Given the description of an element on the screen output the (x, y) to click on. 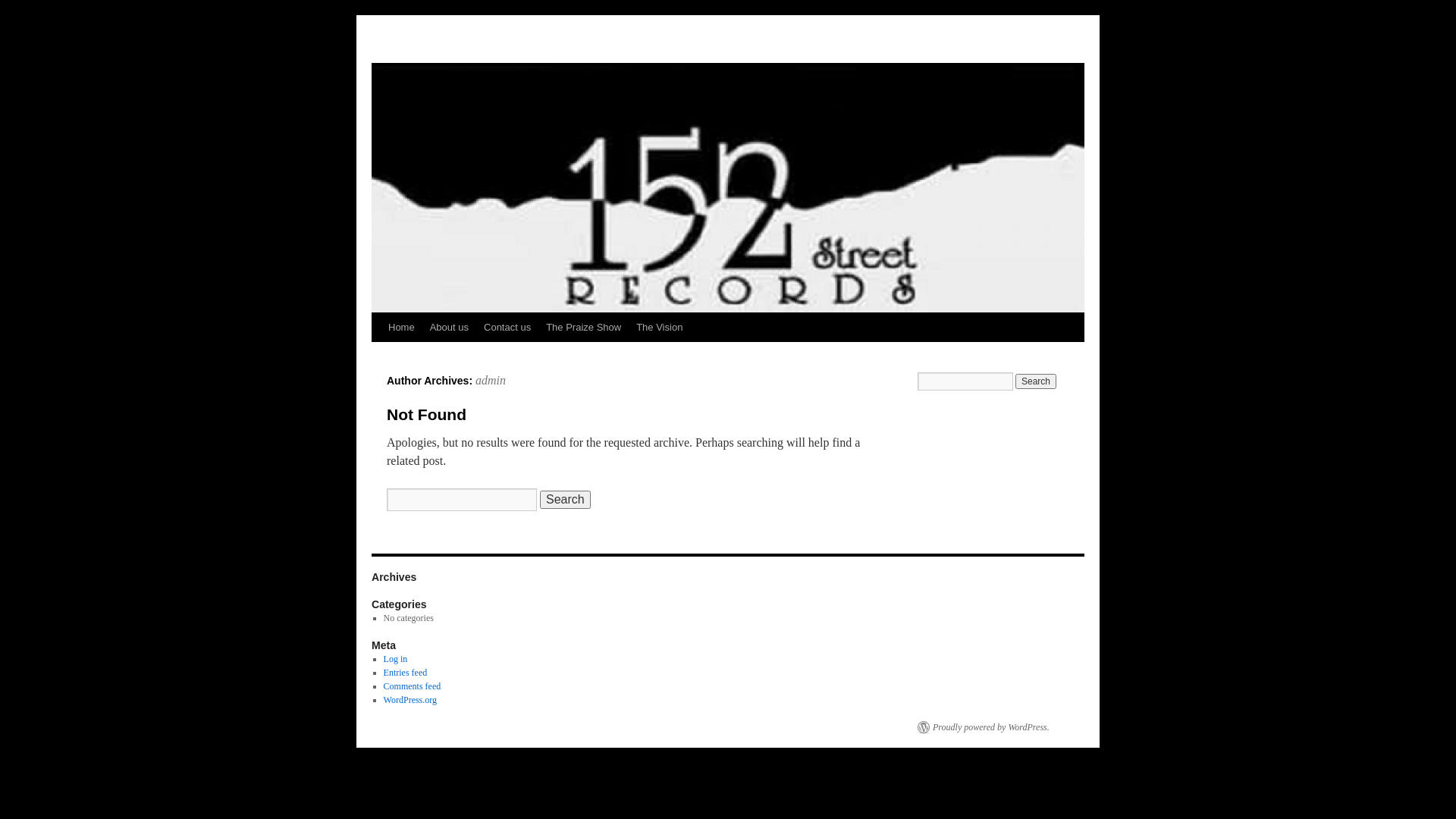
Proudly powered by WordPress. Element type: text (983, 727)
admin Element type: text (490, 379)
Comments feed Element type: text (412, 685)
Search Element type: text (564, 499)
Home Element type: text (401, 327)
Entries feed Element type: text (405, 672)
WordPress.org Element type: text (409, 699)
Contact us Element type: text (507, 327)
The Vision Element type: text (659, 327)
Log in Element type: text (395, 658)
Search Element type: text (1035, 381)
The Praize Show Element type: text (583, 327)
Skip to content Element type: text (377, 355)
About us Element type: text (449, 327)
